Given the description of an element on the screen output the (x, y) to click on. 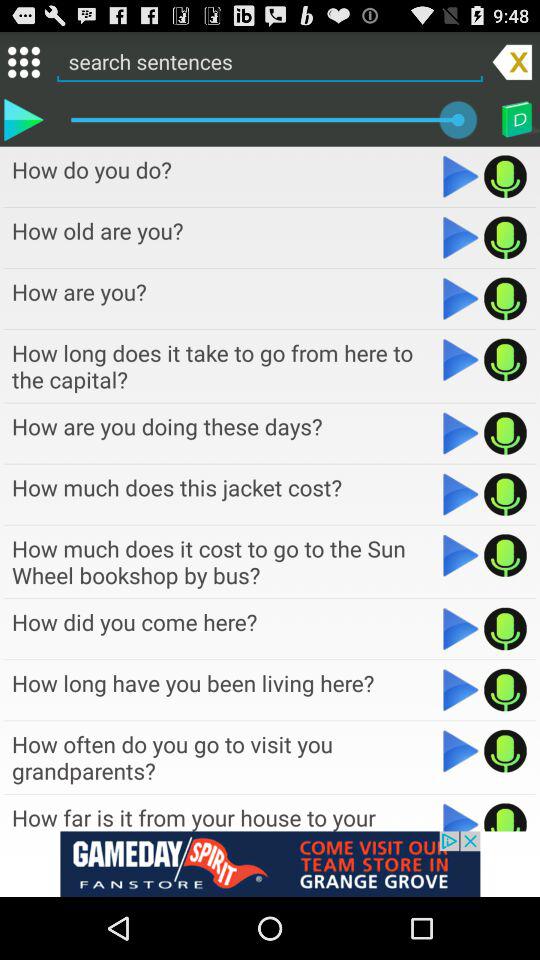
record audio (505, 751)
